Given the description of an element on the screen output the (x, y) to click on. 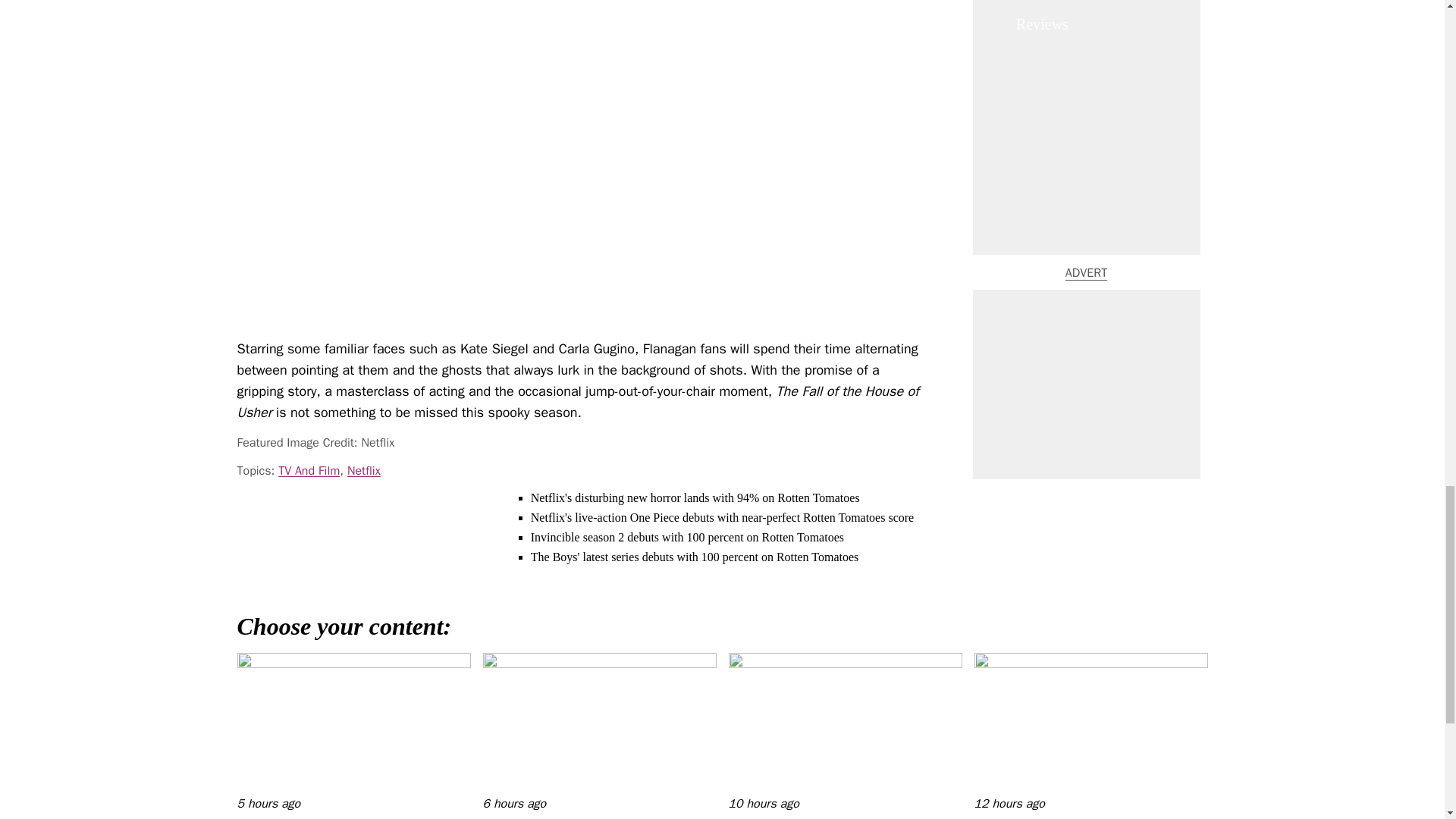
TV And Film (308, 469)
Netflix (363, 469)
